Given the description of an element on the screen output the (x, y) to click on. 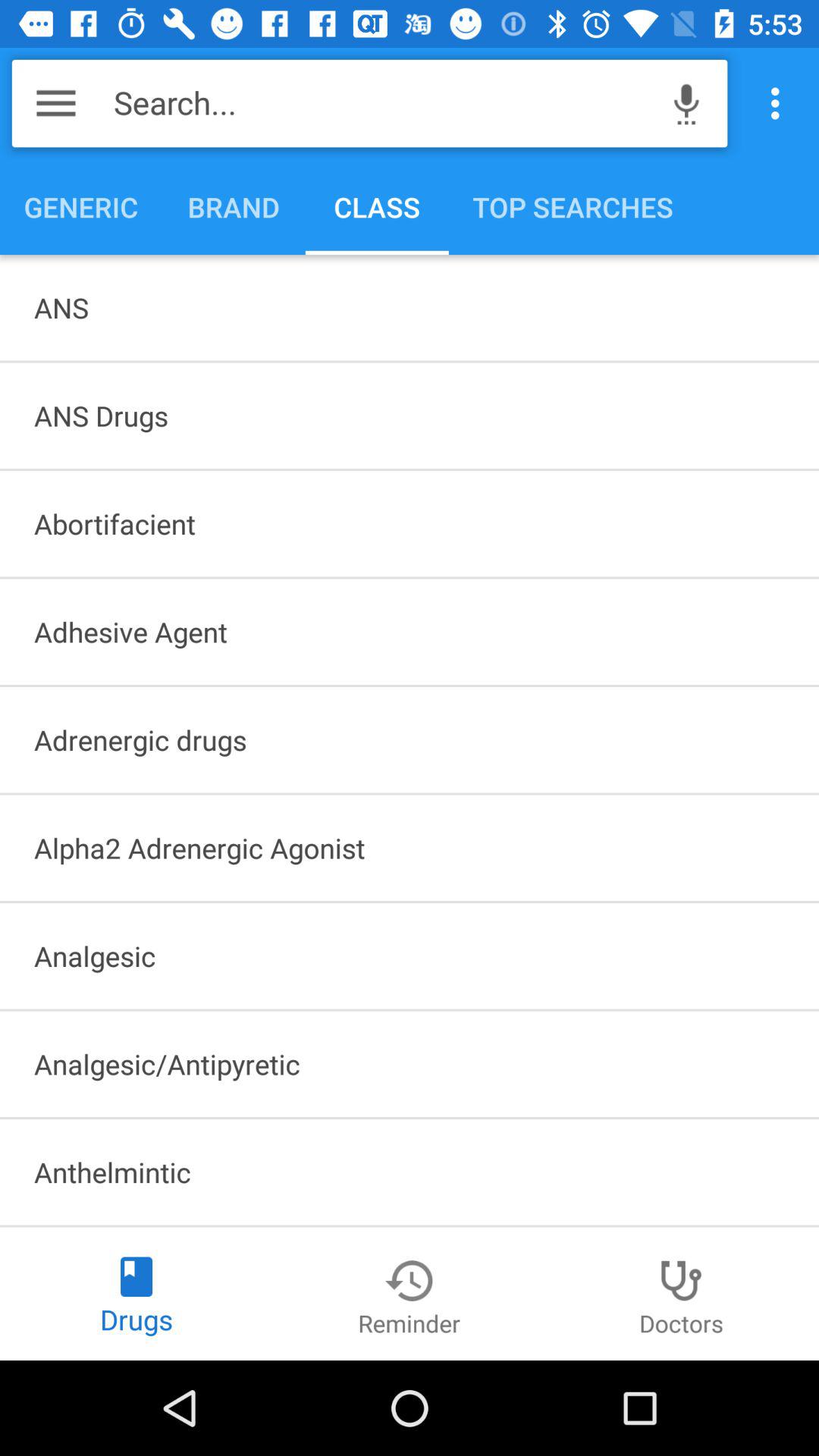
select icon above analgesic item (409, 847)
